Given the description of an element on the screen output the (x, y) to click on. 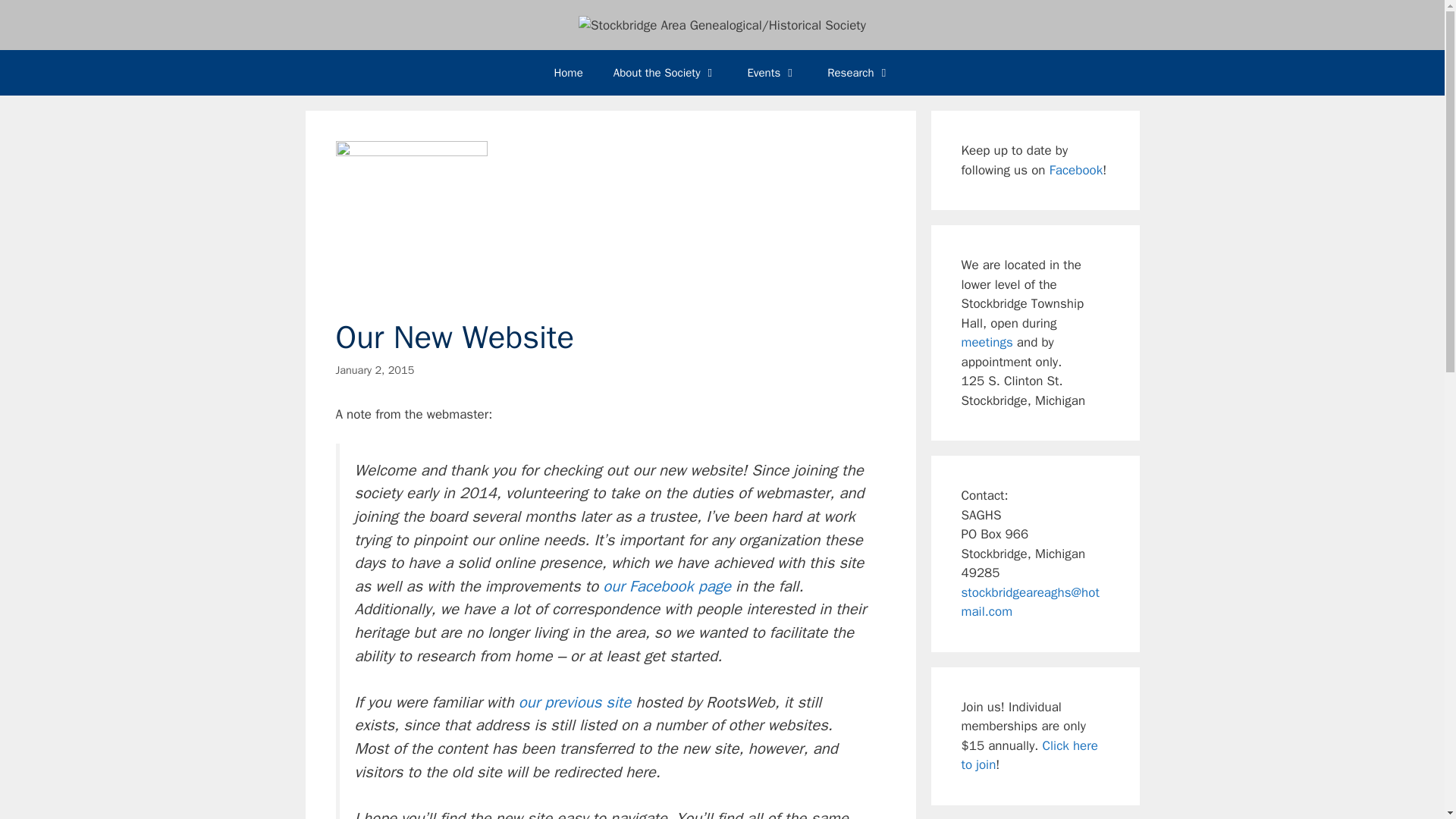
About the Society (665, 72)
our previous site (574, 701)
Click here to join (1028, 755)
Events (772, 72)
meetings (986, 342)
our Facebook page (666, 586)
Home (567, 72)
Facebook (1076, 170)
Research (858, 72)
